Given the description of an element on the screen output the (x, y) to click on. 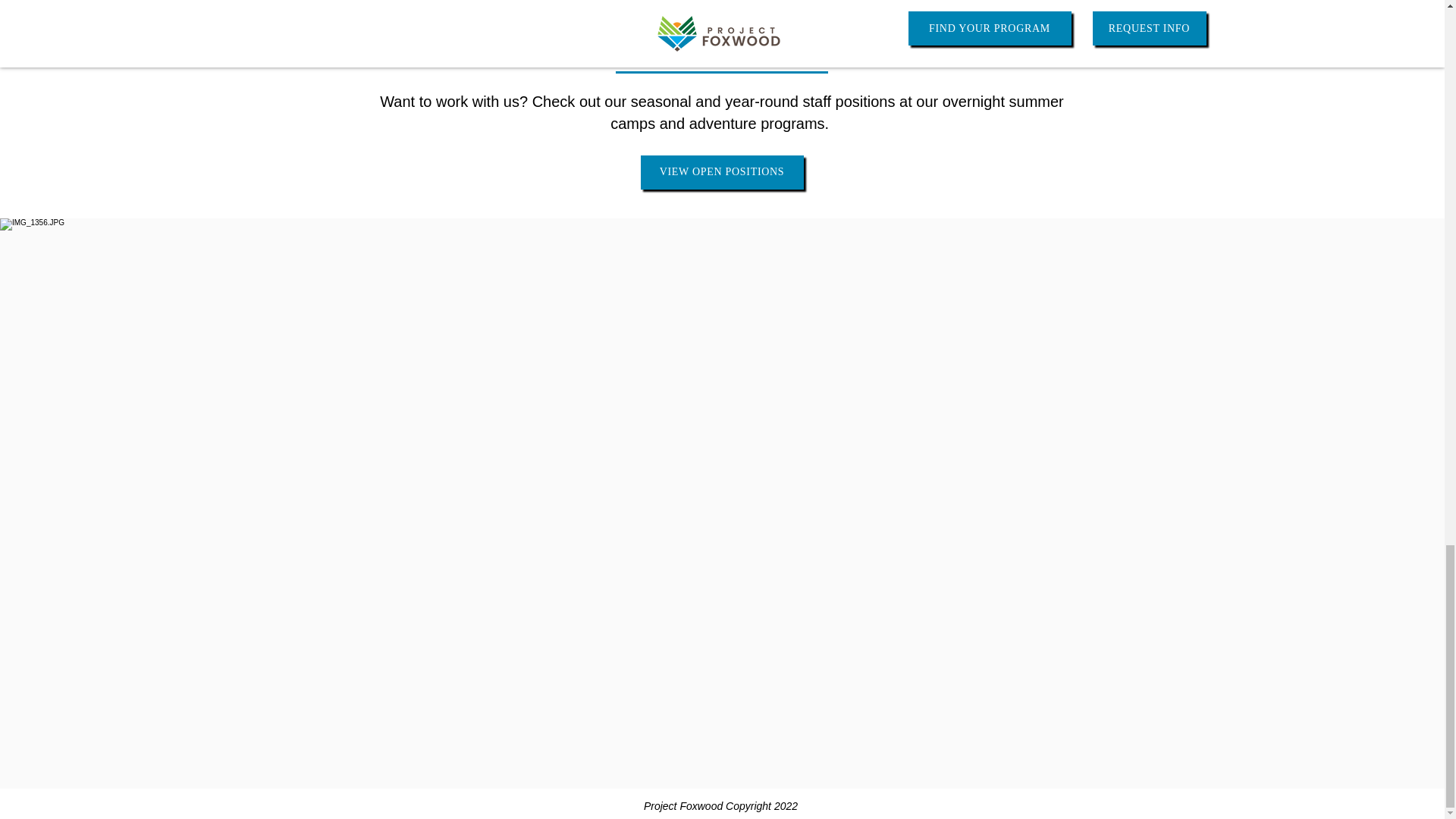
VIEW OPEN POSITIONS (721, 172)
